Given the description of an element on the screen output the (x, y) to click on. 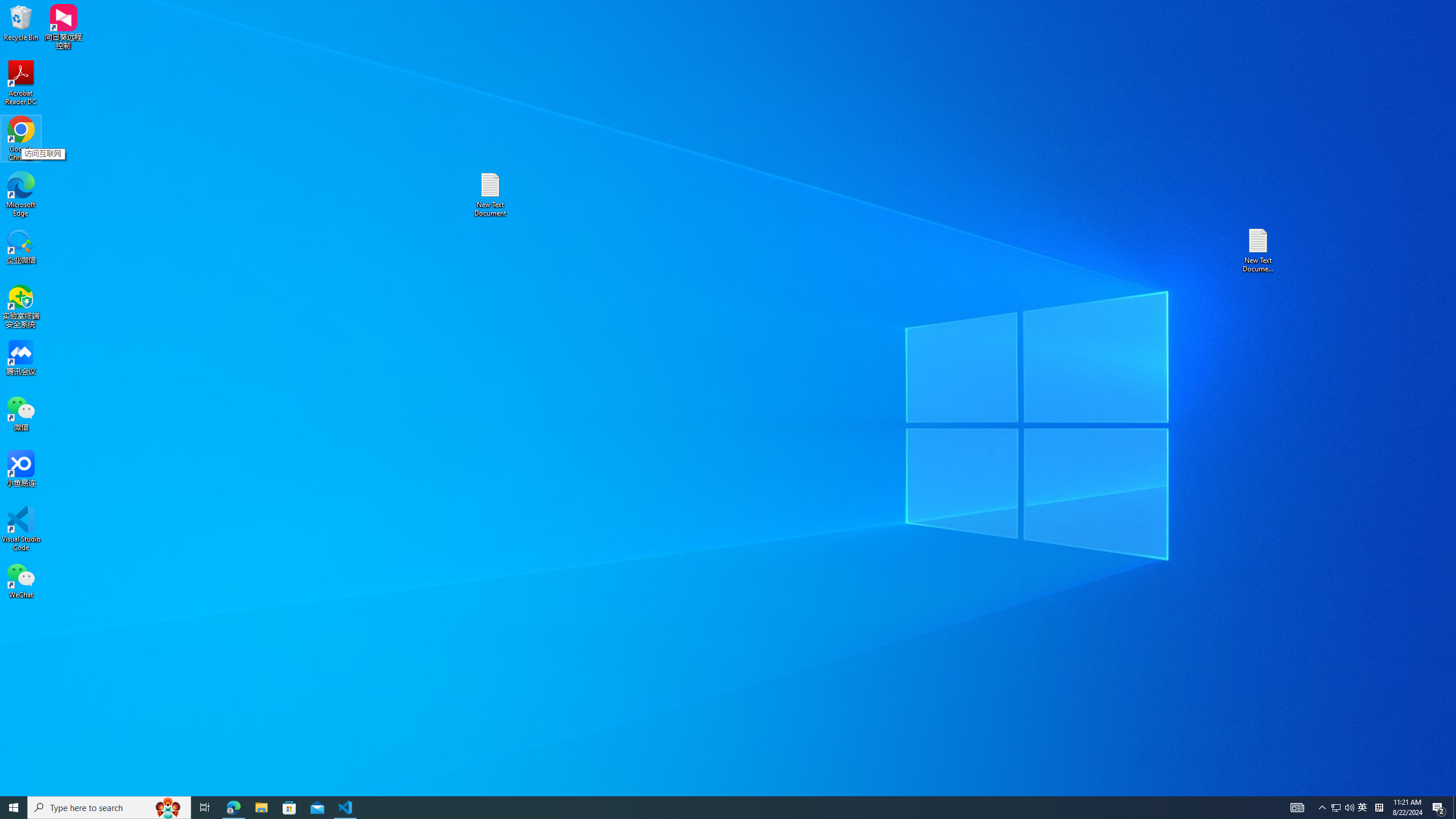
Action Center, 2 new notifications (1439, 807)
Search highlights icon opens search home window (167, 807)
